Given the description of an element on the screen output the (x, y) to click on. 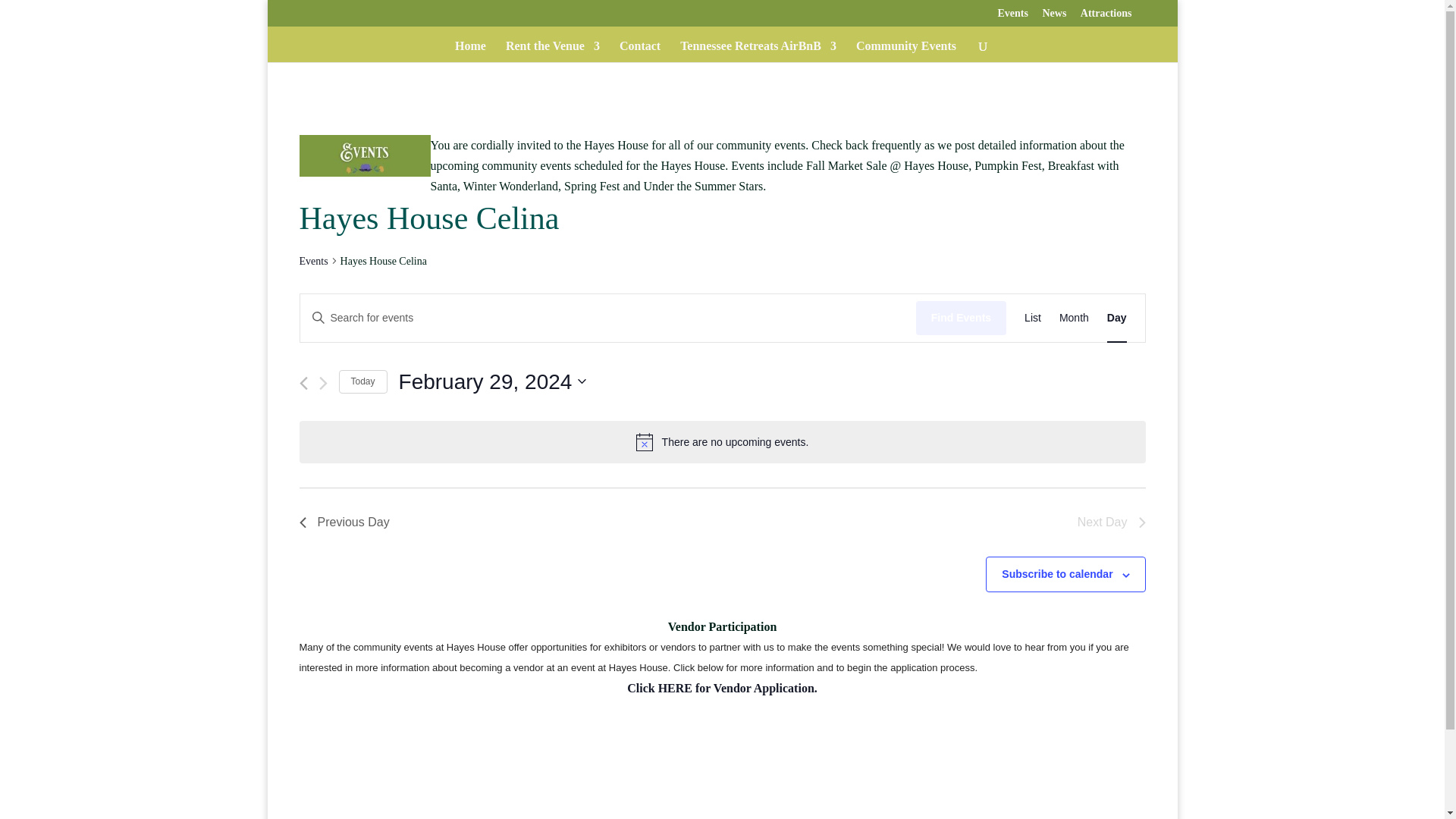
Events (312, 261)
Click to toggle datepicker (492, 381)
Attractions (1106, 16)
Today (362, 381)
Previous day (302, 382)
Next day (322, 382)
Events (1012, 16)
Contact (640, 51)
Day (1116, 318)
Community Events (906, 51)
List (1033, 318)
Previous Day (343, 522)
News (1053, 16)
Click to select today's date (362, 381)
Month (1074, 318)
